Given the description of an element on the screen output the (x, y) to click on. 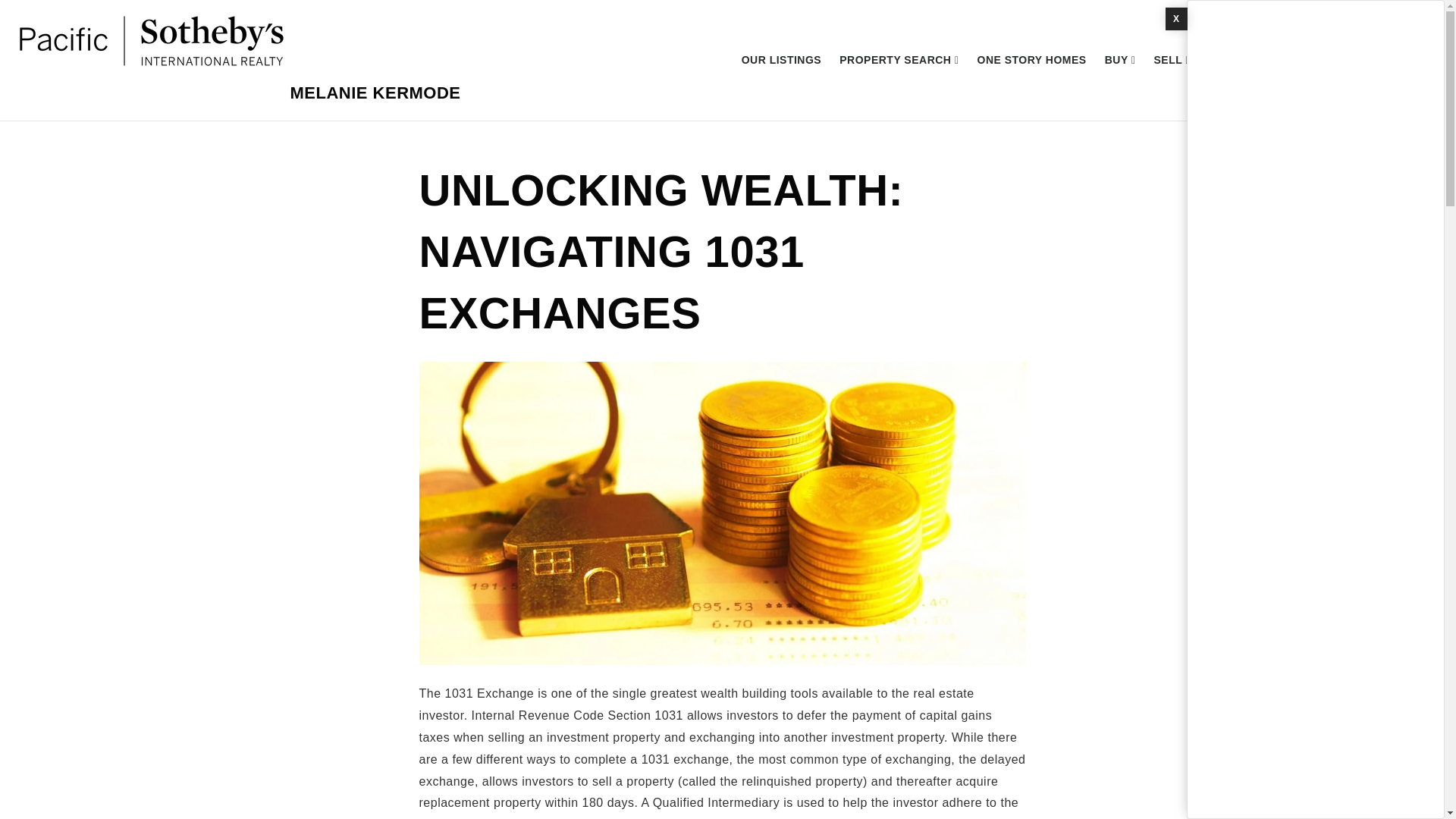
ONE STORY HOMES (1031, 59)
OUR LISTINGS (781, 59)
ABOUT (1230, 59)
MELANIE KERMODE (374, 92)
PROPERTY SEARCH (898, 59)
CONTACT (1299, 59)
SELL (1171, 59)
BUY (1120, 59)
